Given the description of an element on the screen output the (x, y) to click on. 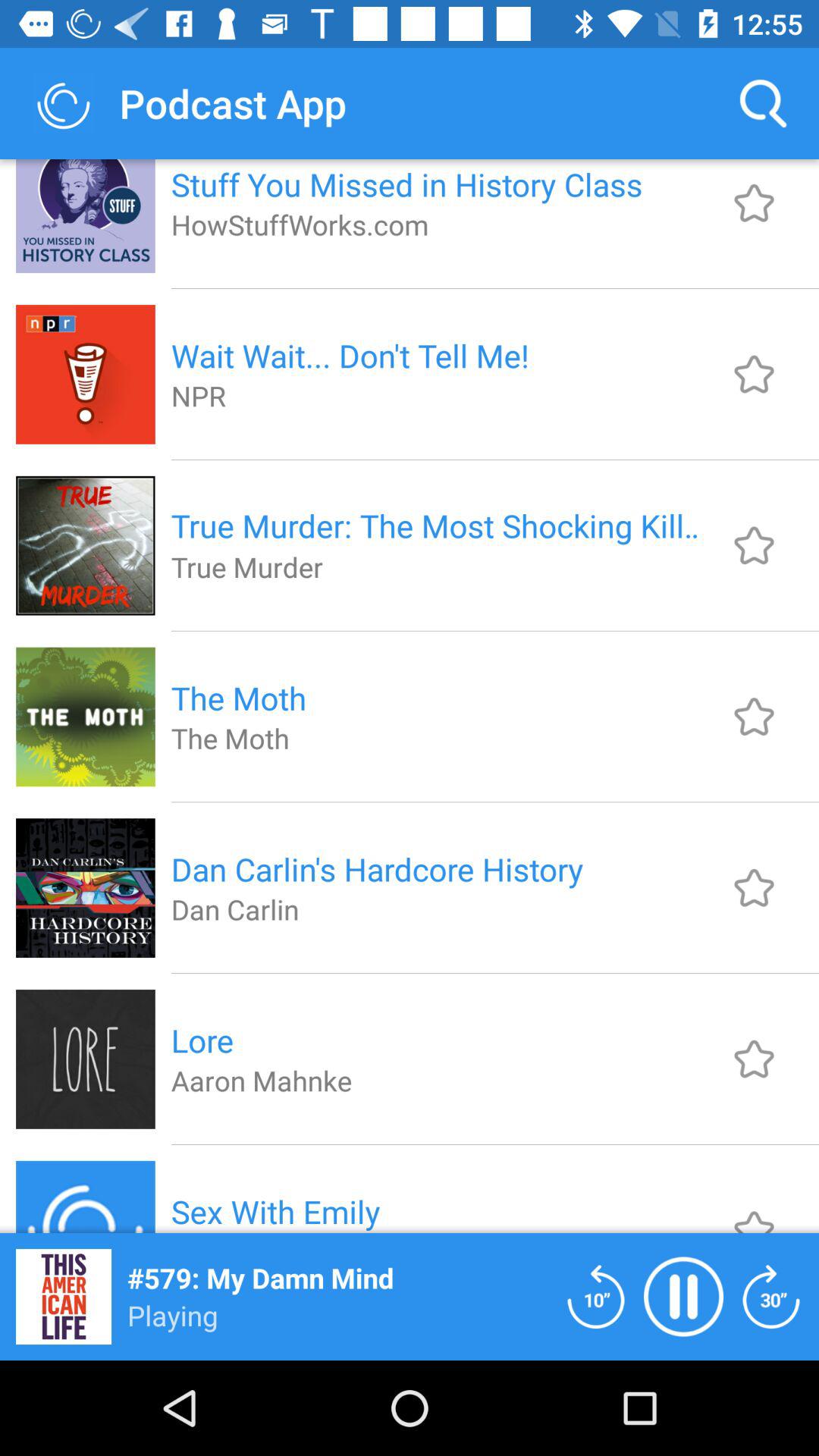
voltar a musica 10 segundos (595, 1296)
